Given the description of an element on the screen output the (x, y) to click on. 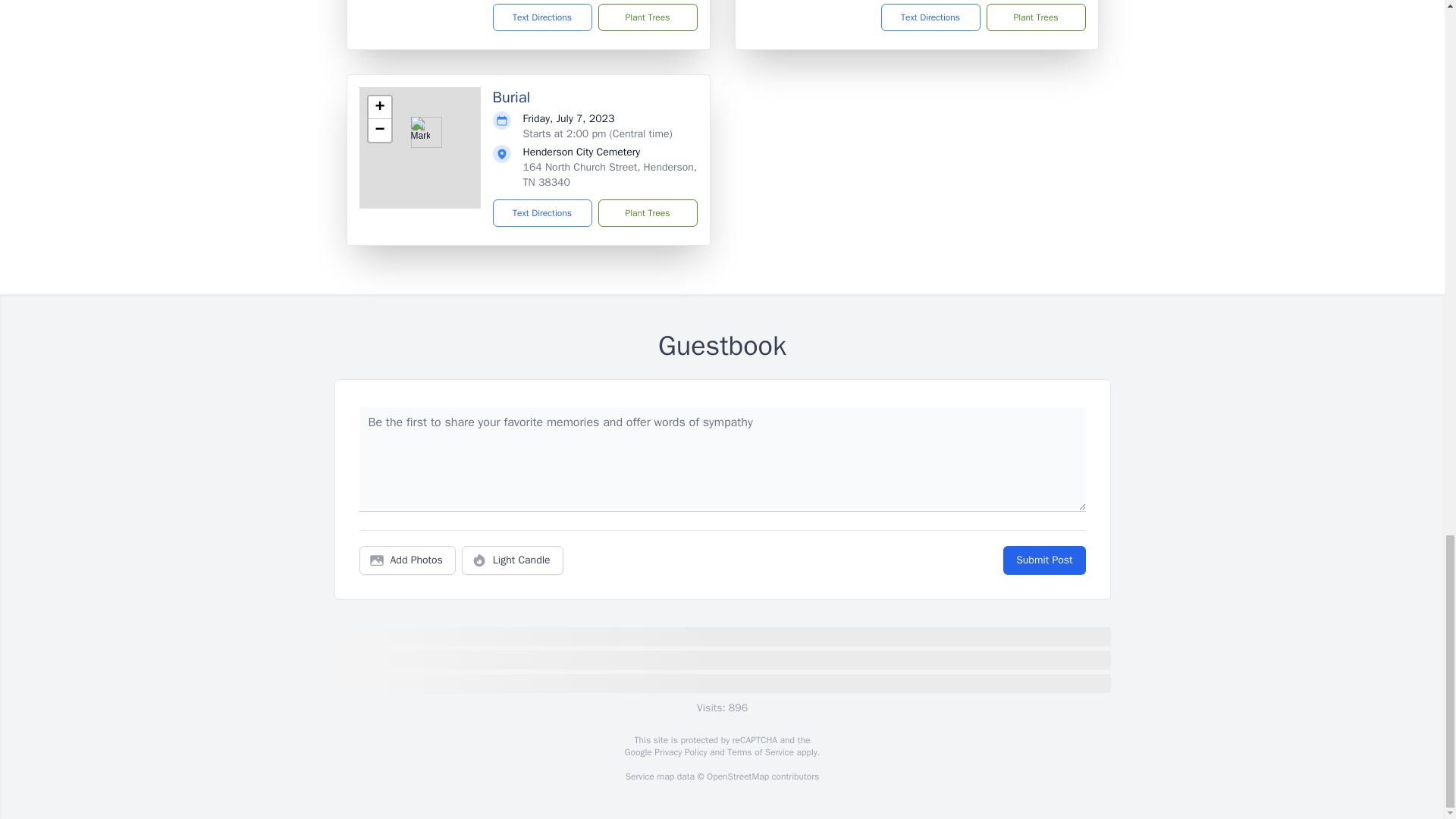
Zoom in (379, 107)
Plant Trees (1034, 17)
Plant Trees (646, 212)
Plant Trees (646, 17)
Text Directions (542, 17)
Text Directions (929, 17)
Text Directions (542, 212)
164 North Church Street, Henderson, TN 38340 (609, 174)
Zoom out (379, 129)
